Given the description of an element on the screen output the (x, y) to click on. 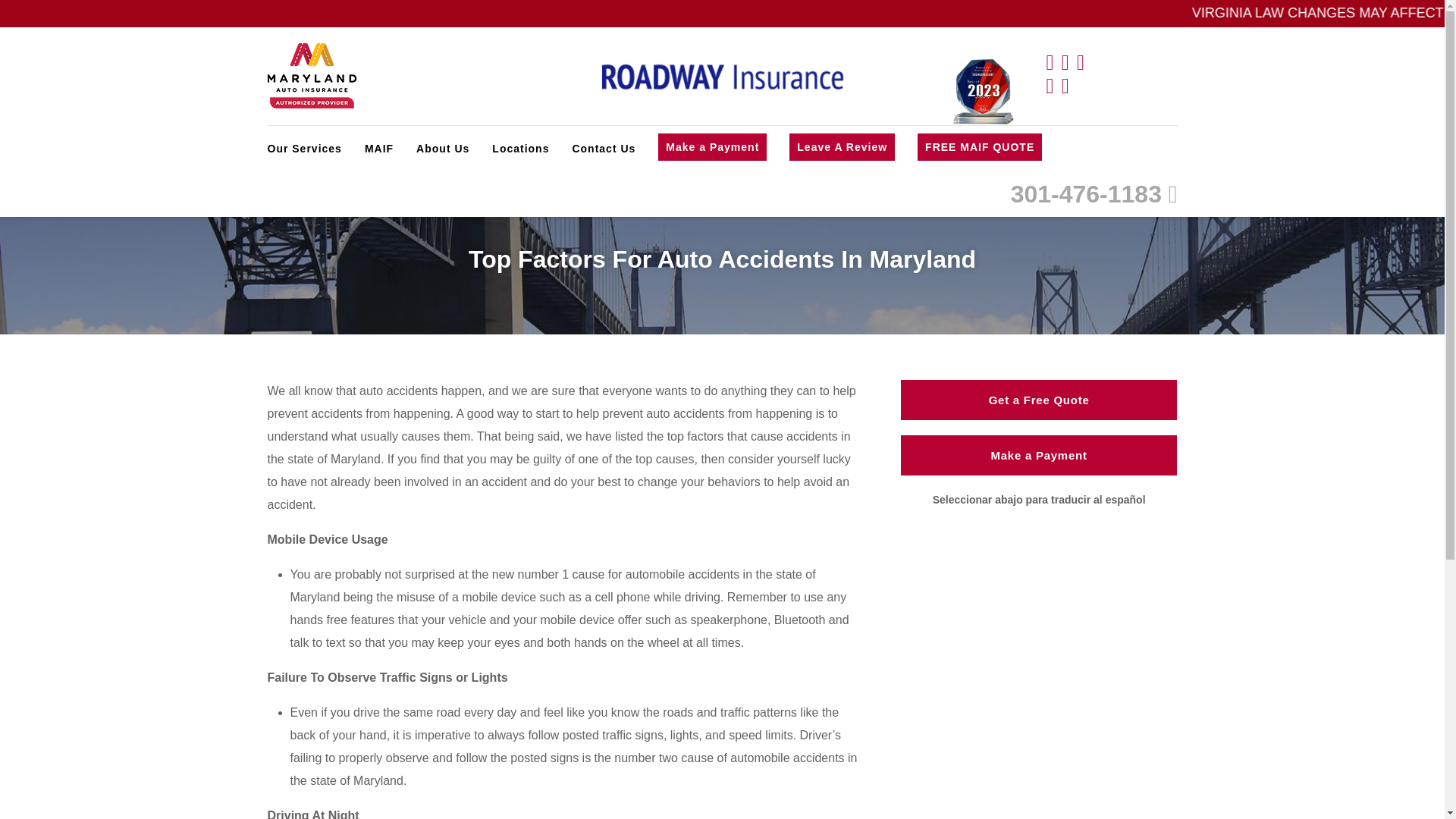
Leave A Review (842, 146)
Locations (520, 148)
FREE MAIF QUOTE (979, 146)
301-476-1183 (1093, 194)
Contact Us (603, 148)
Our Services (303, 148)
About Us (442, 148)
Make a Payment (712, 146)
